Given the description of an element on the screen output the (x, y) to click on. 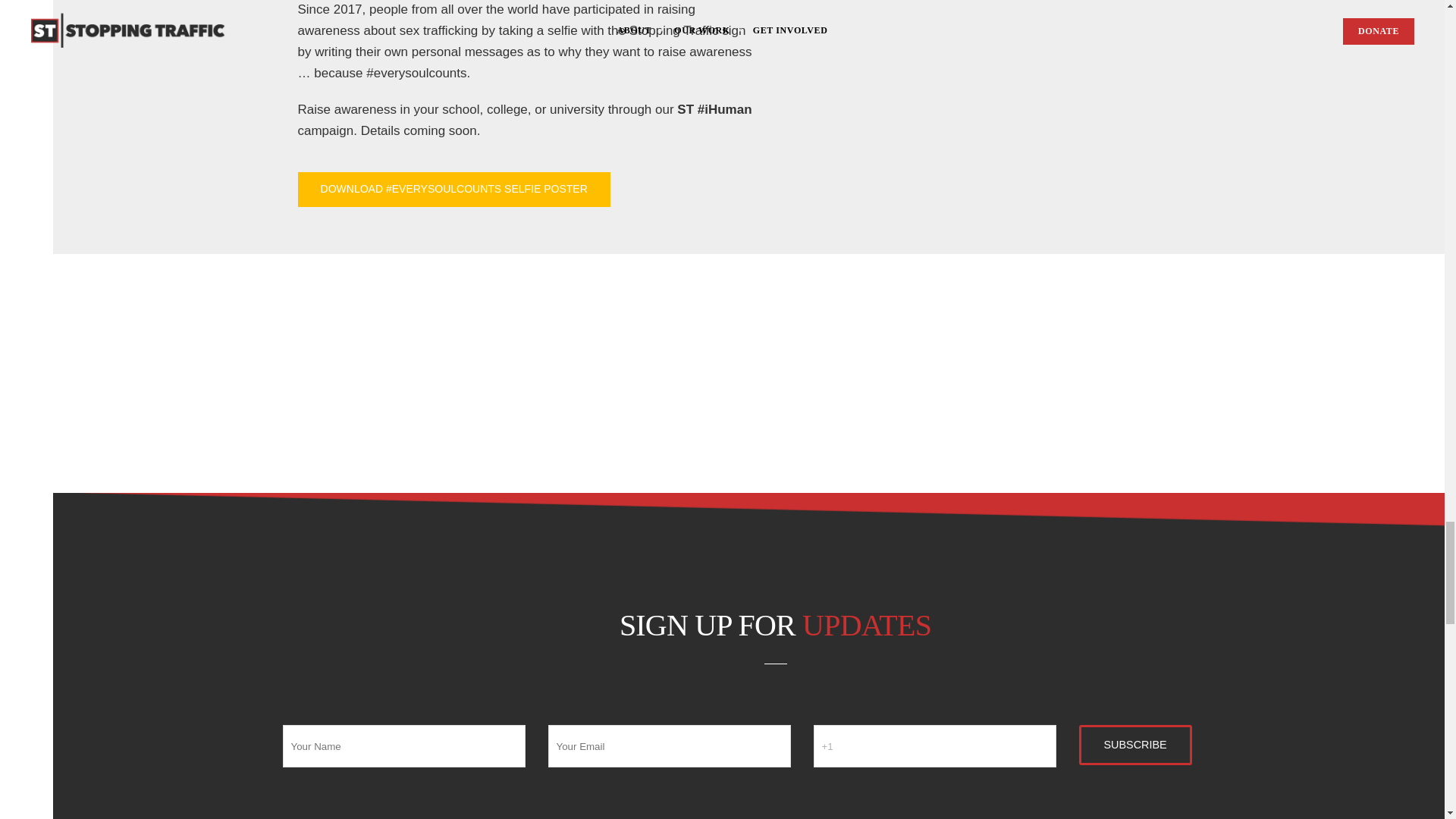
Subscribe (1134, 744)
